Given the description of an element on the screen output the (x, y) to click on. 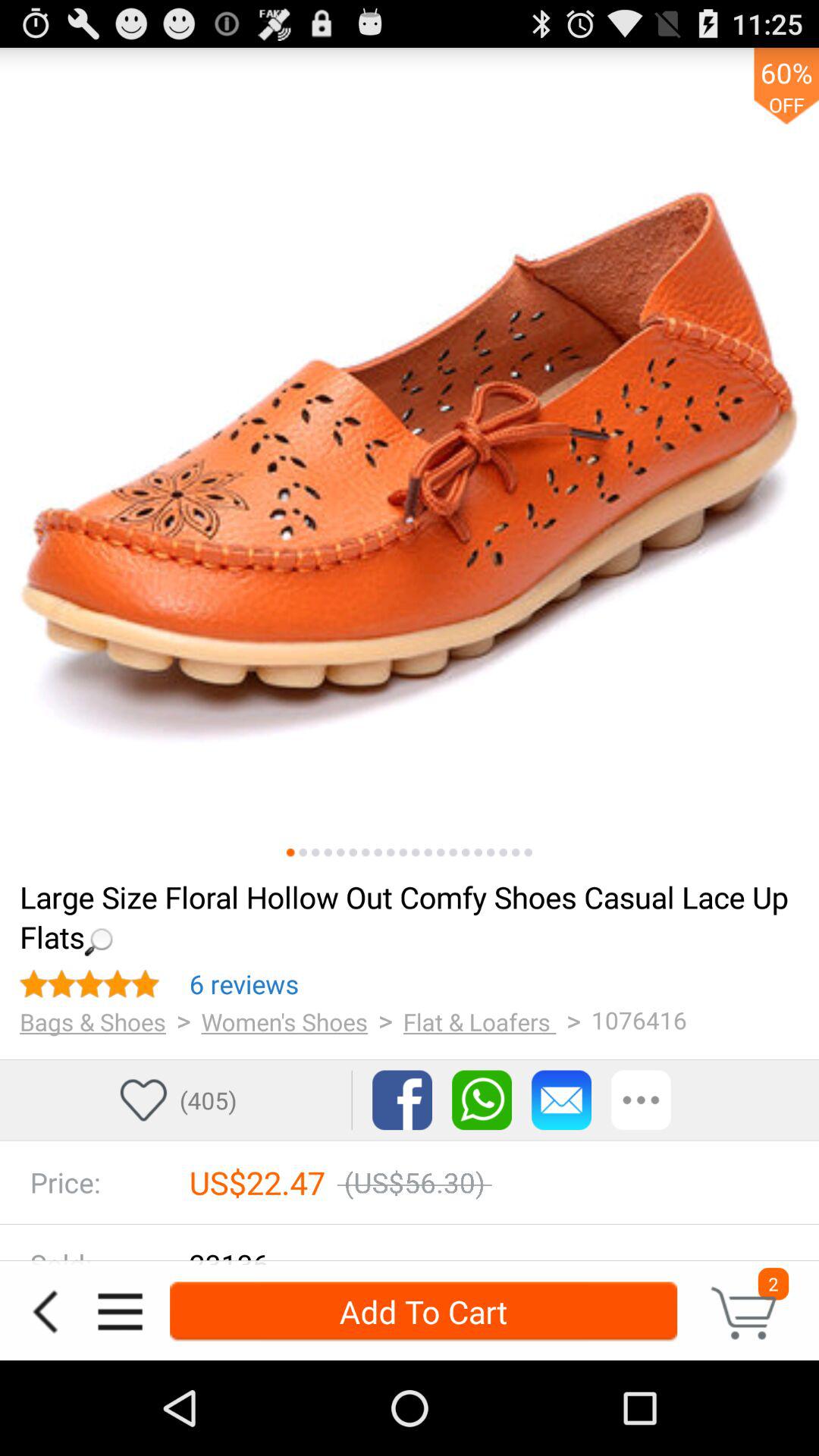
current page selector (290, 852)
